Given the description of an element on the screen output the (x, y) to click on. 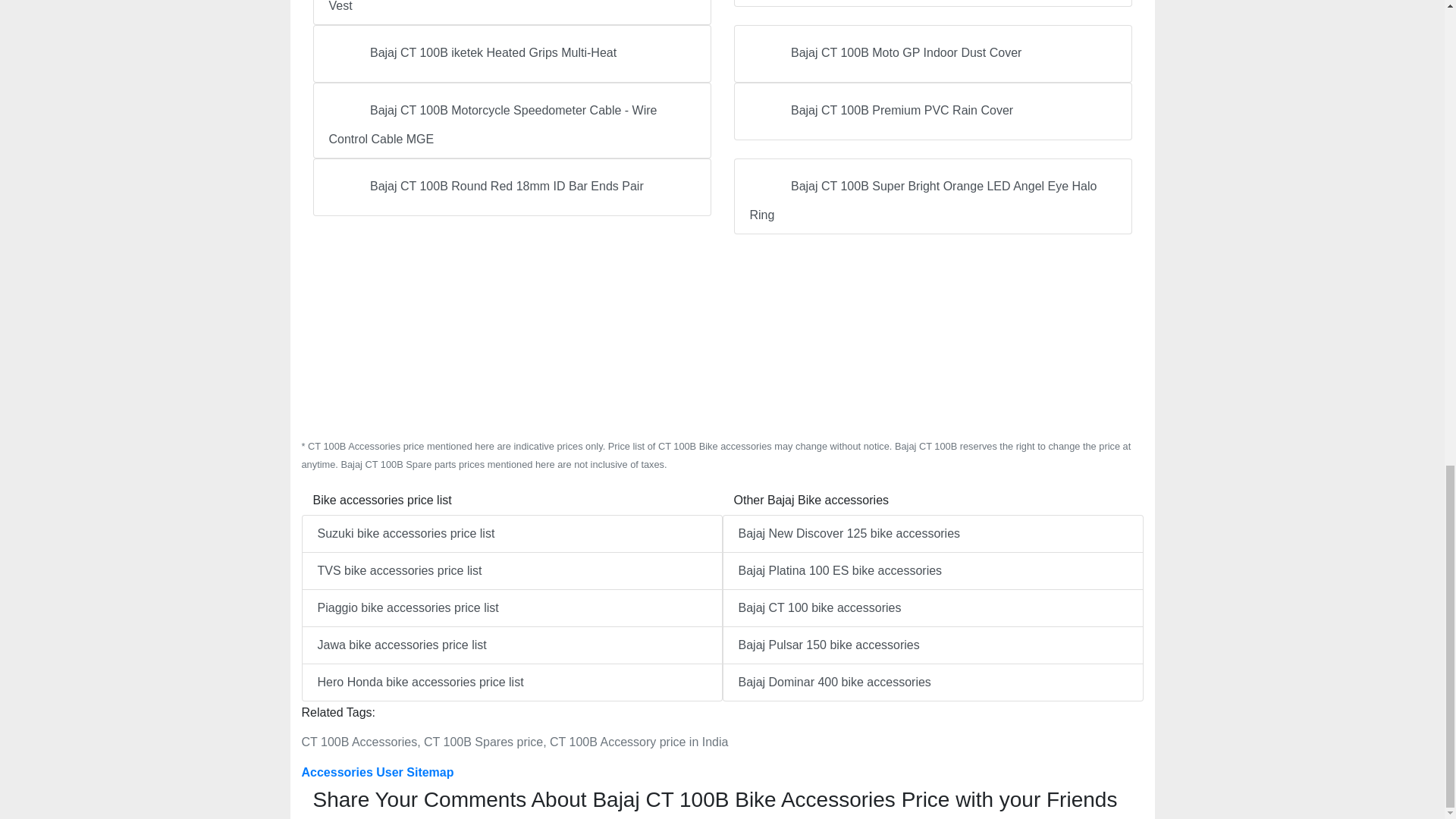
Bajaj CT 100B iketek Heated Grips Multi-Heat (511, 53)
Bajaj CT 100B Heated Grips Adjustable Temp (932, 3)
Hero Honda bike accessories price list (511, 682)
Advertisement (721, 336)
Jawa bike accessories price list (511, 645)
Accessories User Sitemap (377, 771)
TVS bike accessories price list (511, 570)
Bajaj CT 100B Premium PVC Rain Cover (932, 111)
Bajaj Platina 100 ES bike accessories (932, 570)
Bajaj CT 100B Moto GP Indoor Dust Cover (932, 53)
